Given the description of an element on the screen output the (x, y) to click on. 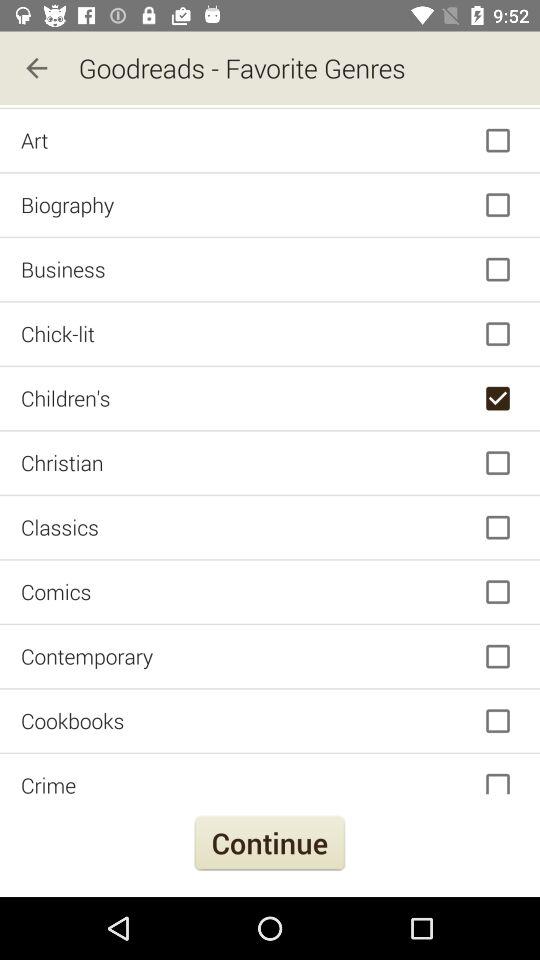
select the comics (270, 591)
